Given the description of an element on the screen output the (x, y) to click on. 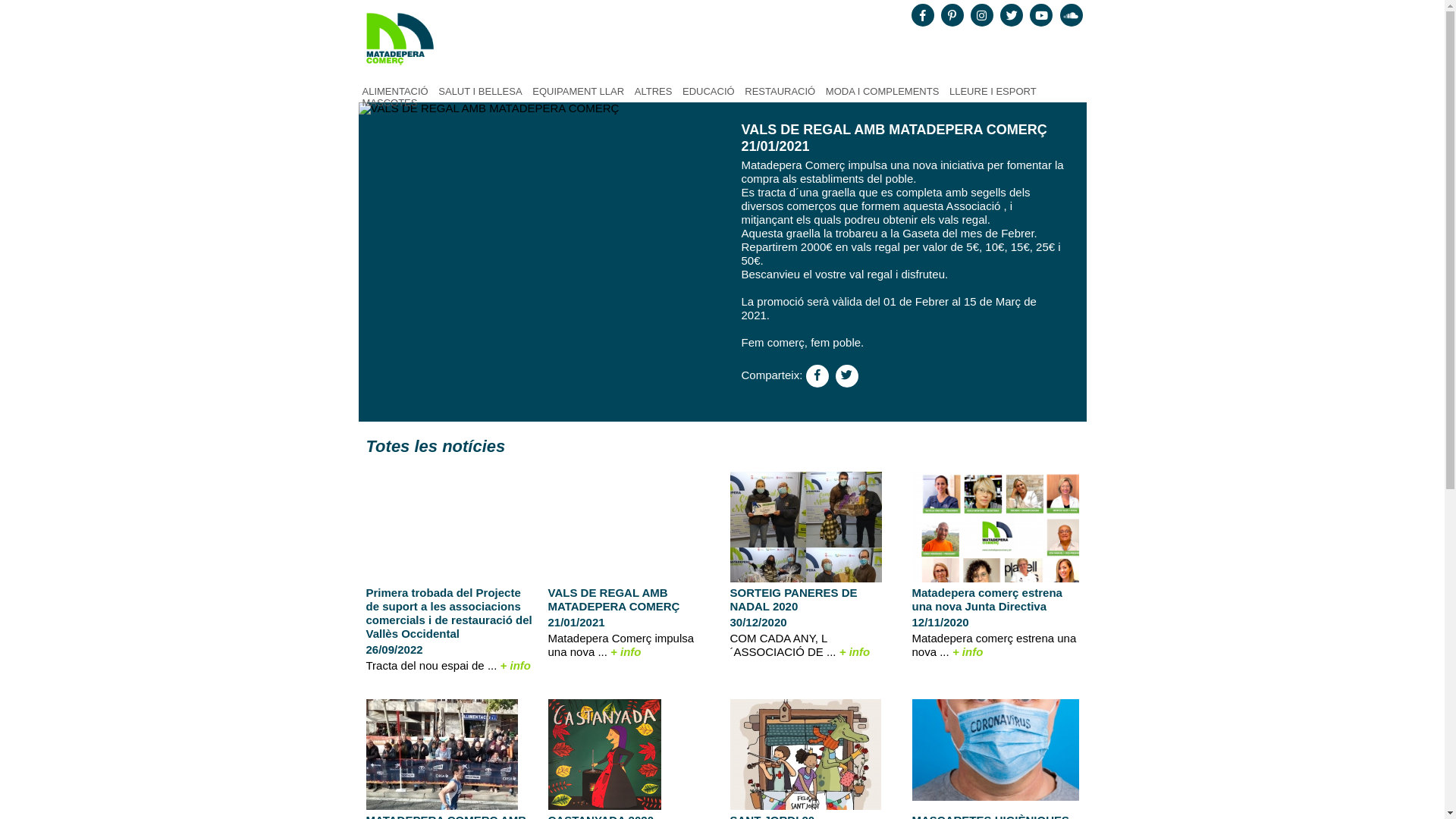
ALTRES Element type: text (653, 90)
+ info Element type: text (625, 651)
SORTEIG PANERES DE NADAL 2020 Element type: text (792, 599)
Twitter Element type: hover (1011, 14)
SALUT I BELLESA Element type: text (479, 90)
EQUIPAMENT LLAR Element type: text (577, 90)
Soundcloud Element type: hover (1071, 14)
Youtube Element type: hover (1040, 14)
LLEURE I ESPORT Element type: text (992, 90)
MODA I COMPLEMENTS Element type: text (882, 90)
Pinterest Element type: hover (952, 14)
MASCOTES Element type: text (388, 102)
+ info Element type: text (515, 664)
+ info Element type: text (854, 651)
Instagram Element type: hover (981, 14)
Facebook Element type: hover (922, 14)
+ info Element type: text (967, 651)
